Given the description of an element on the screen output the (x, y) to click on. 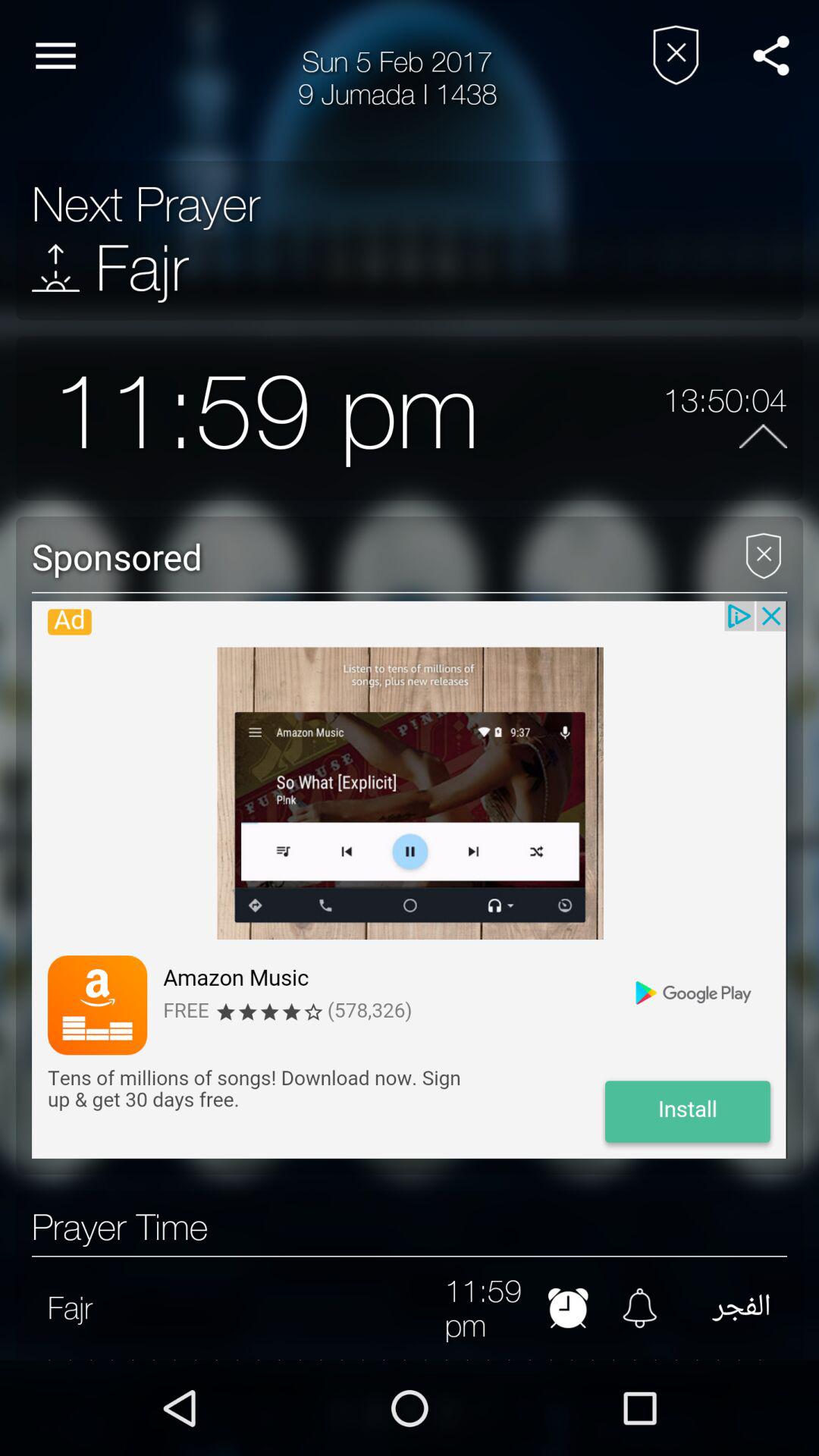
choose icon to the left of the 13:50:04 (571, 417)
